Given the description of an element on the screen output the (x, y) to click on. 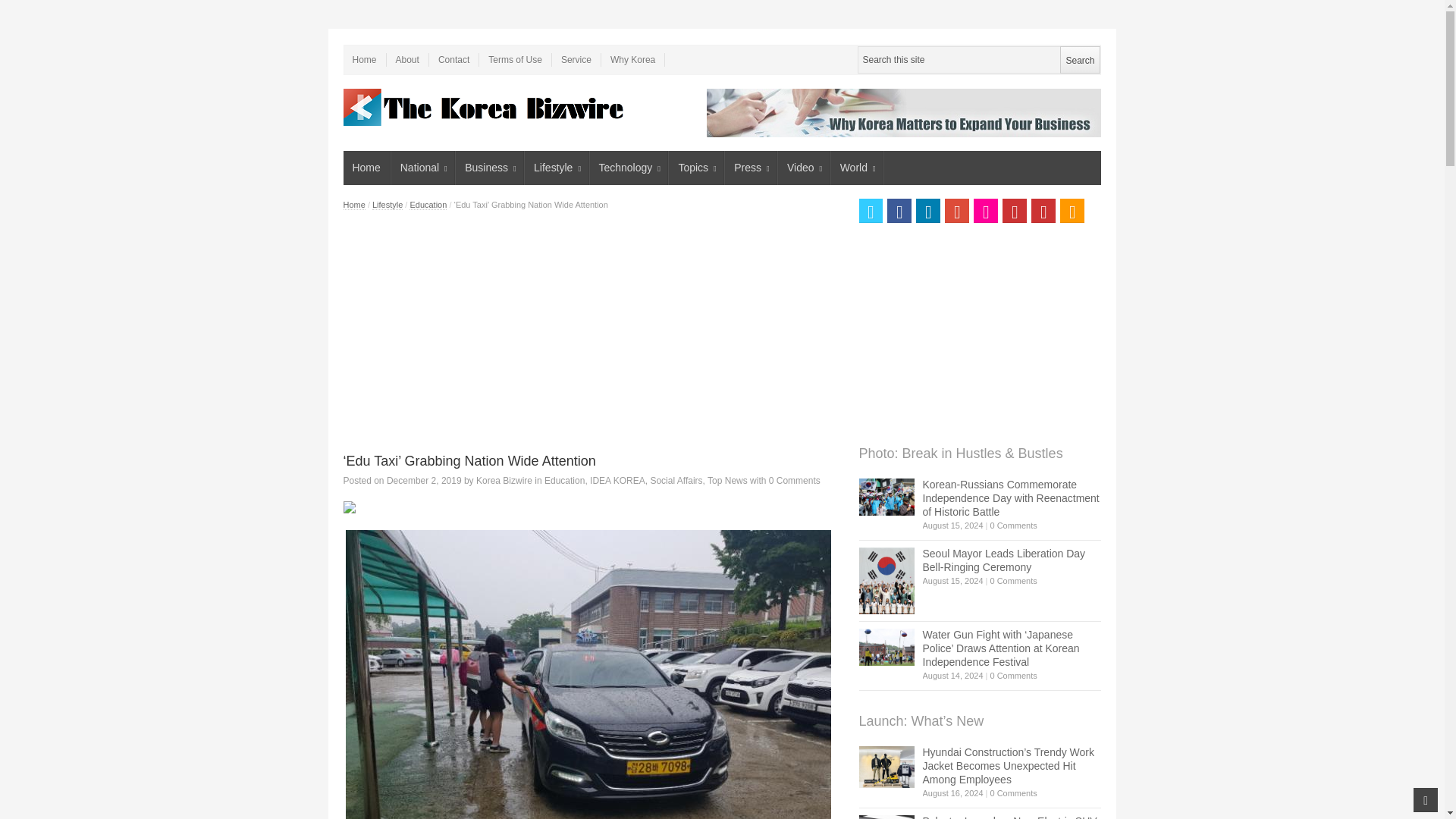
Search this site (978, 59)
View all posts in Social Affairs (675, 480)
Terms of Use (515, 59)
National (422, 167)
Home (366, 167)
Why Korea (633, 59)
Service (576, 59)
About (408, 59)
View all posts in IDEA KOREA (617, 480)
Print page (592, 507)
